Given the description of an element on the screen output the (x, y) to click on. 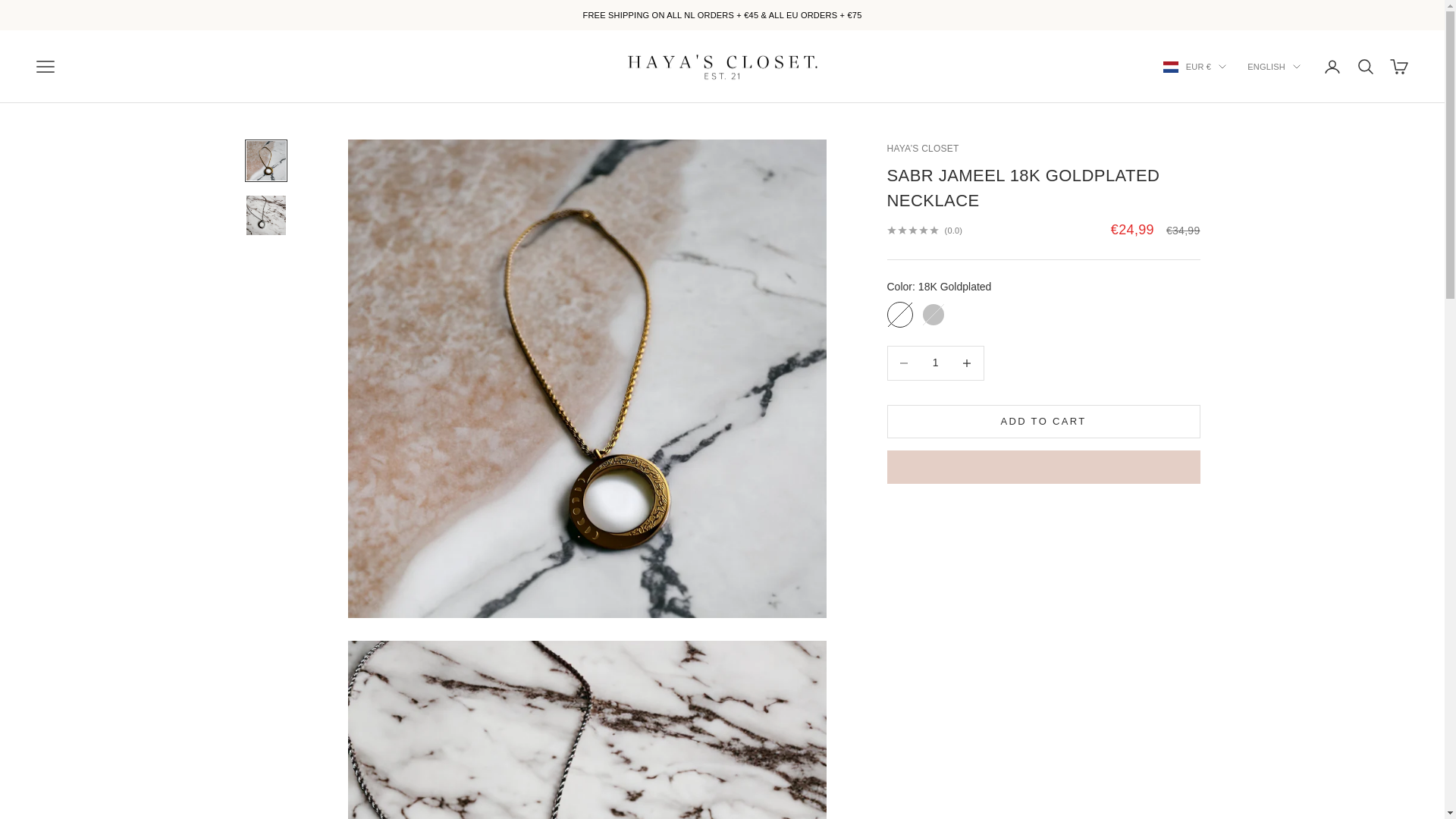
1 (935, 362)
No reviews (924, 230)
Open navigation menu (45, 66)
